Given the description of an element on the screen output the (x, y) to click on. 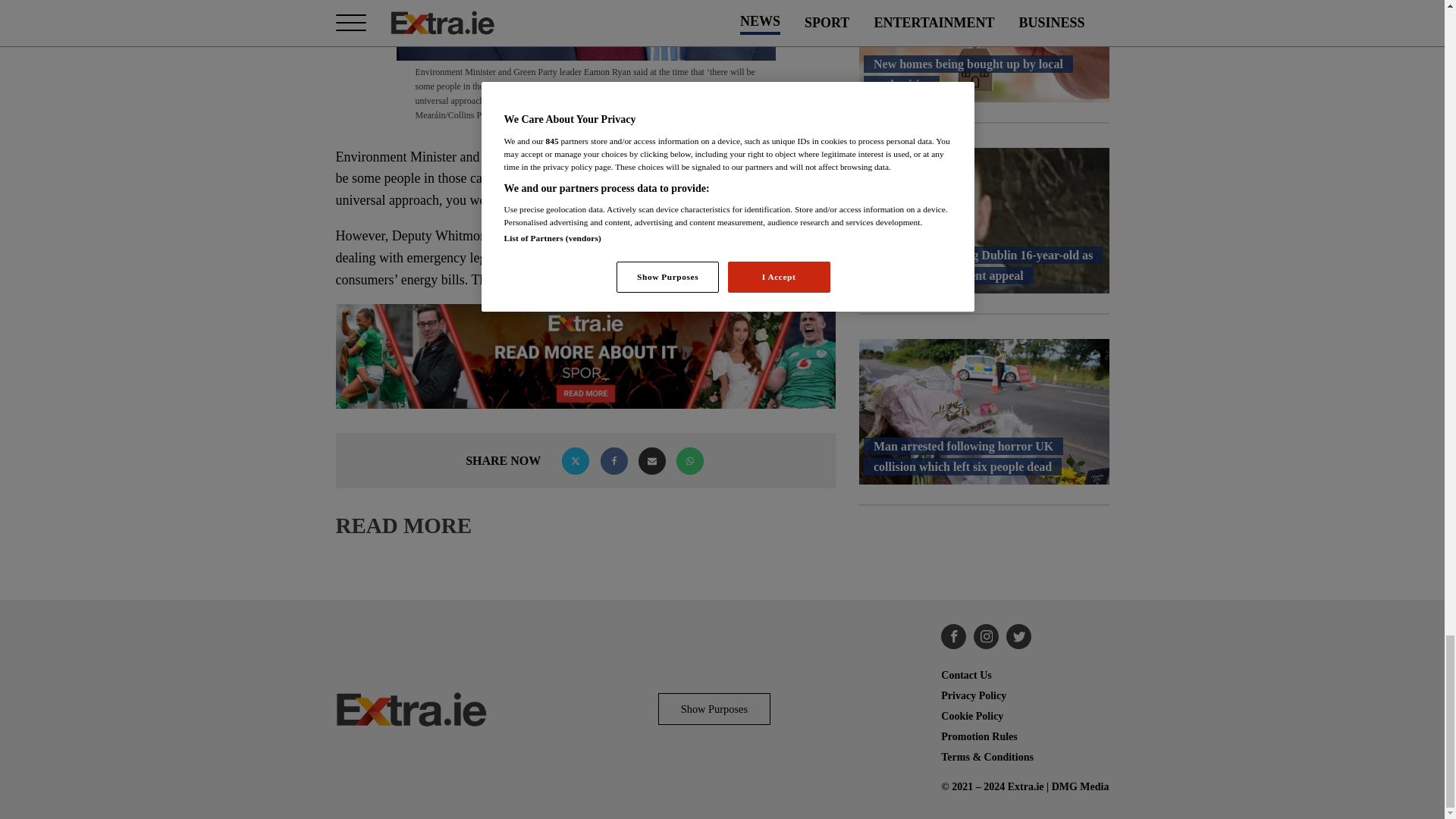
Green Party (518, 157)
